Given the description of an element on the screen output the (x, y) to click on. 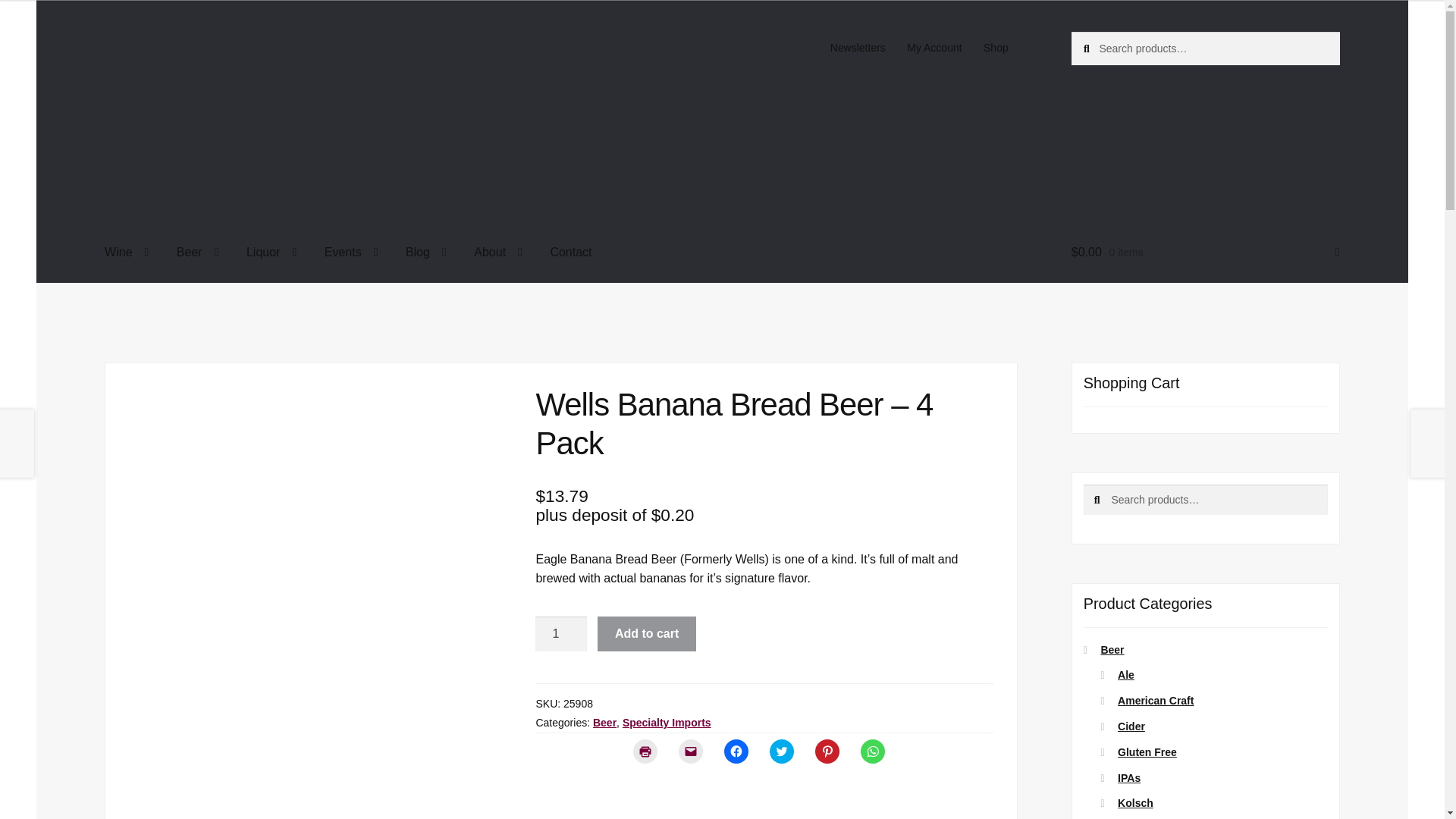
Newsletters (858, 47)
Click to share on Twitter (781, 751)
View your shopping cart (1205, 252)
Click to share on Pinterest (827, 751)
Blog (425, 252)
Click to share on WhatsApp (872, 751)
1 (560, 633)
Click to email a link to a friend (690, 751)
Beer (197, 252)
About (497, 252)
